Given the description of an element on the screen output the (x, y) to click on. 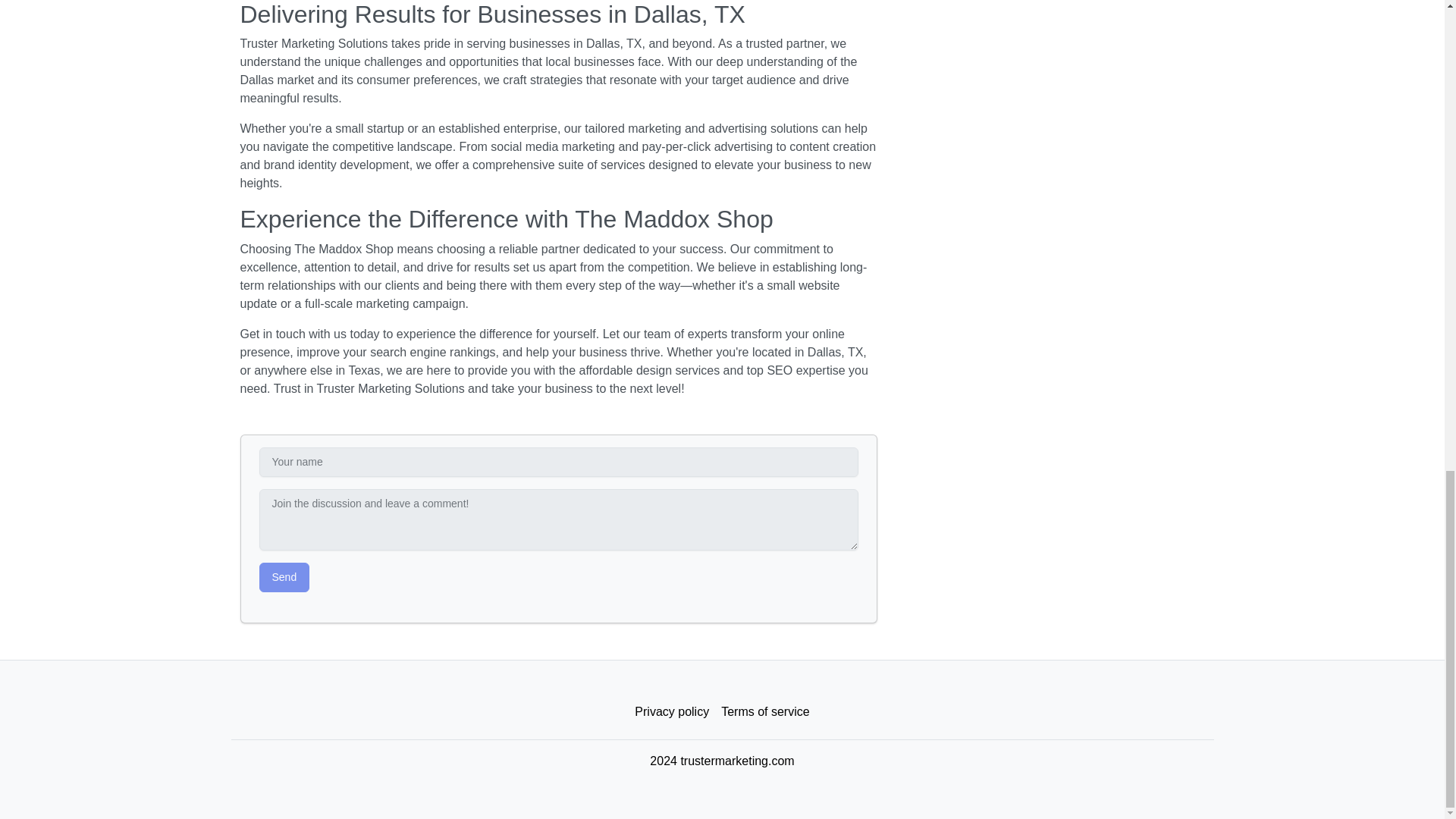
Terms of service (764, 711)
Privacy policy (671, 711)
Send (284, 577)
Send (284, 577)
